Given the description of an element on the screen output the (x, y) to click on. 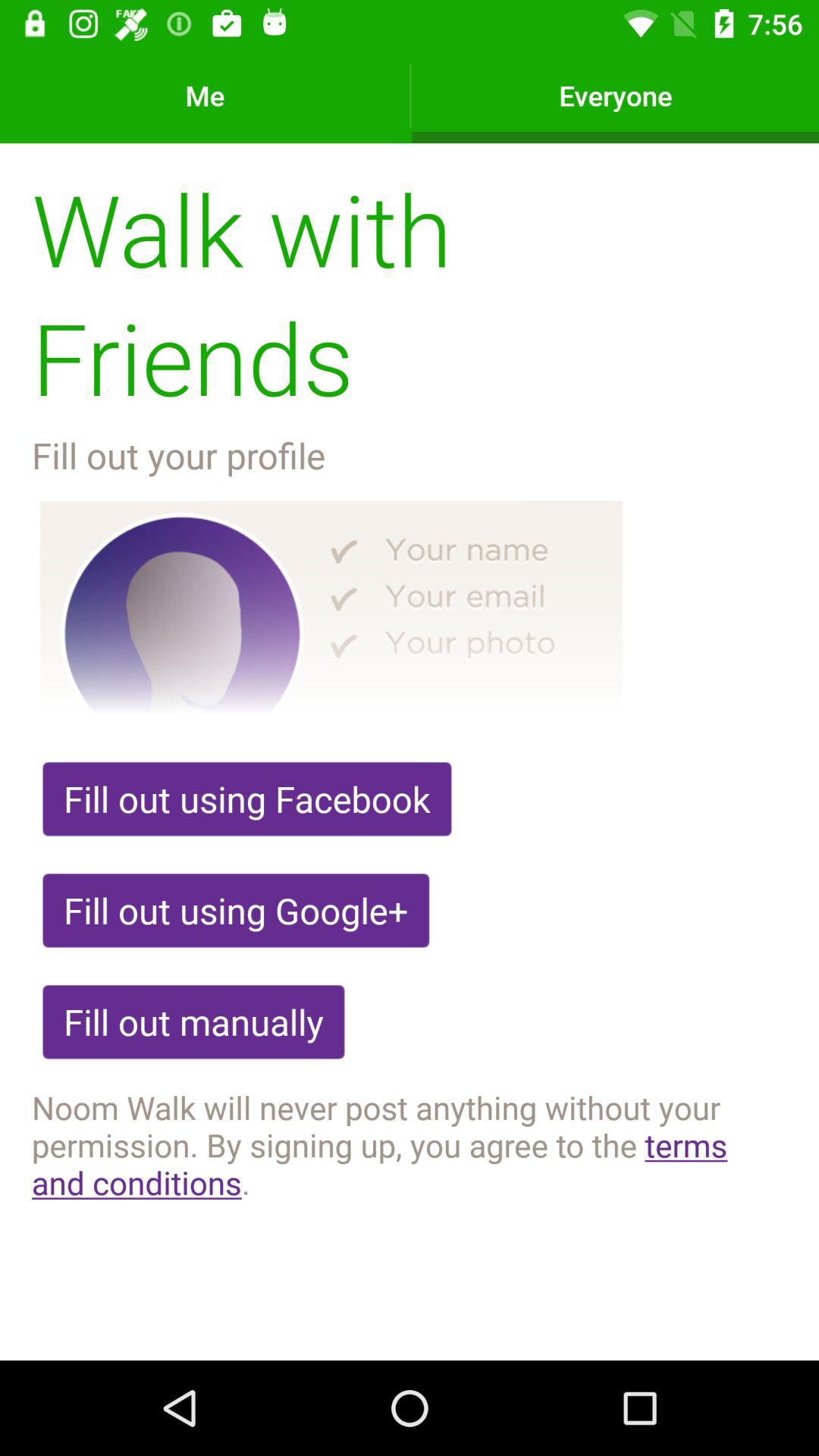
swipe until noom walk will (409, 1144)
